Given the description of an element on the screen output the (x, y) to click on. 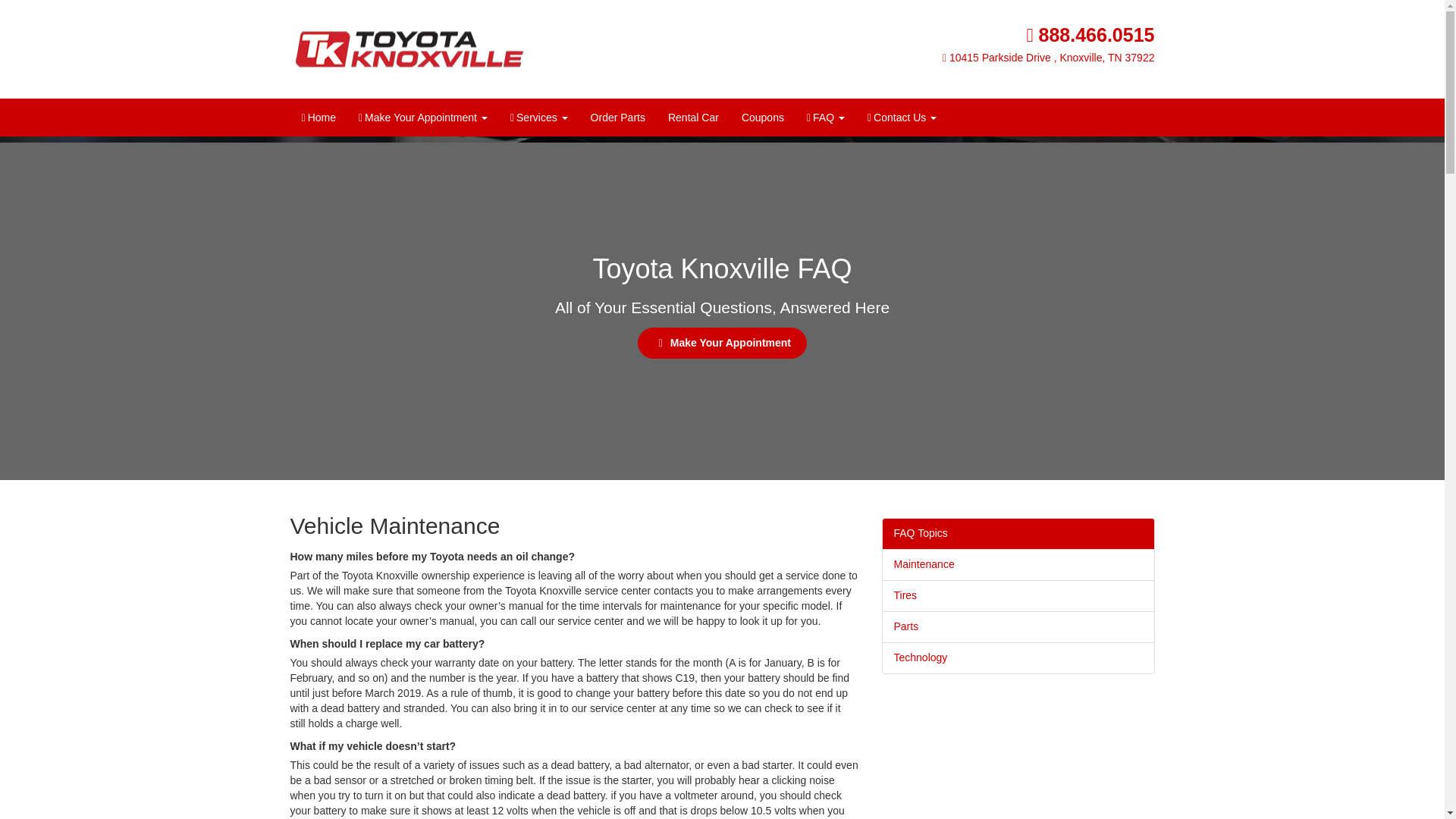
Tires (1017, 595)
Make Your Appointment (423, 117)
Technology (1017, 658)
Services (539, 117)
Maintenance (1017, 564)
Coupons (762, 117)
Rental Car (693, 117)
888.466.0515 (1090, 34)
FAQ (825, 117)
Parts (1017, 626)
